Given the description of an element on the screen output the (x, y) to click on. 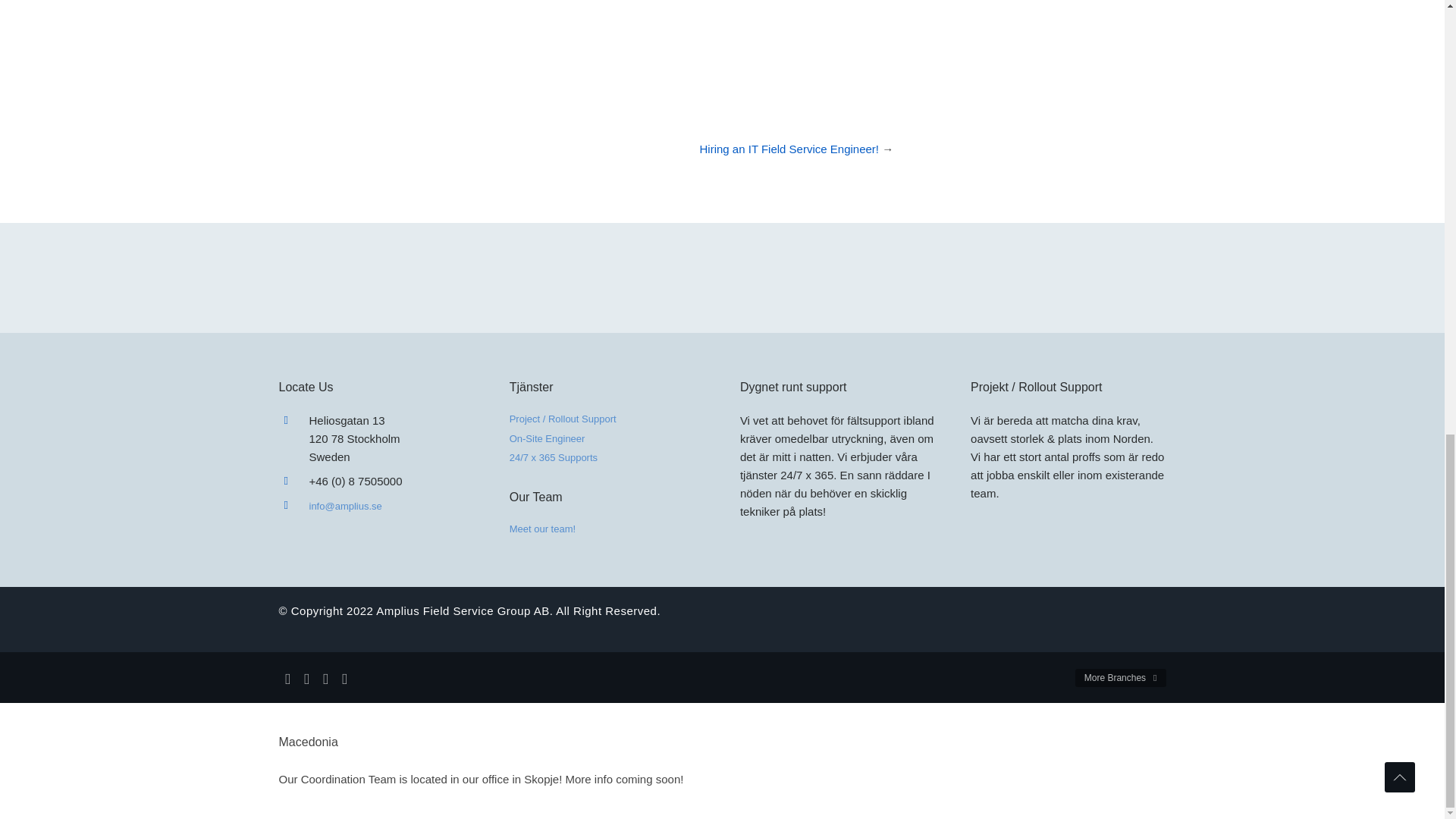
Hiring an IT Field Service Engineer! (789, 148)
